Given the description of an element on the screen output the (x, y) to click on. 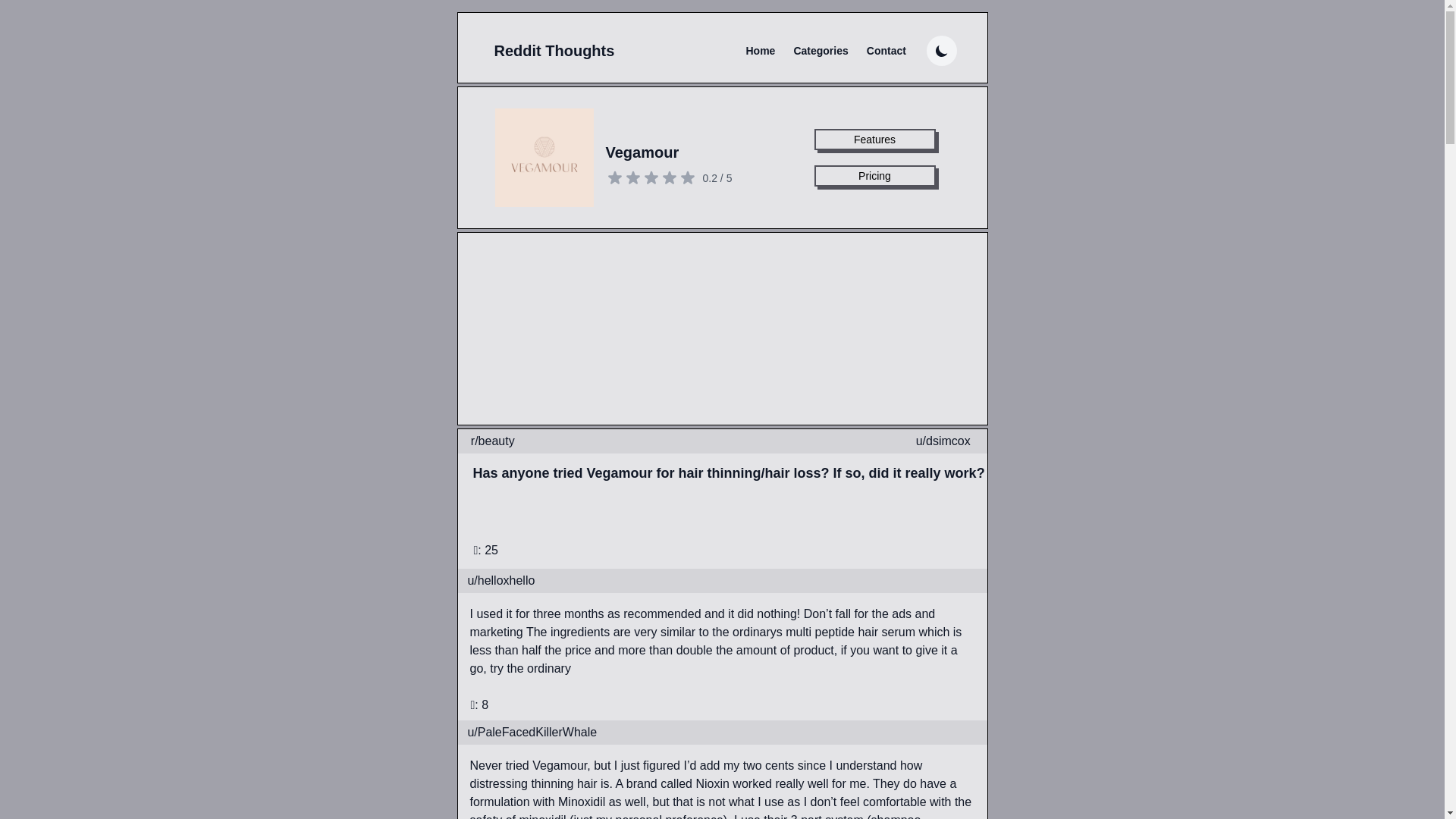
Pricing (874, 175)
Reddit Thoughts (554, 50)
Categories (820, 50)
Contact (886, 50)
Home (760, 50)
Features (874, 138)
